Given the description of an element on the screen output the (x, y) to click on. 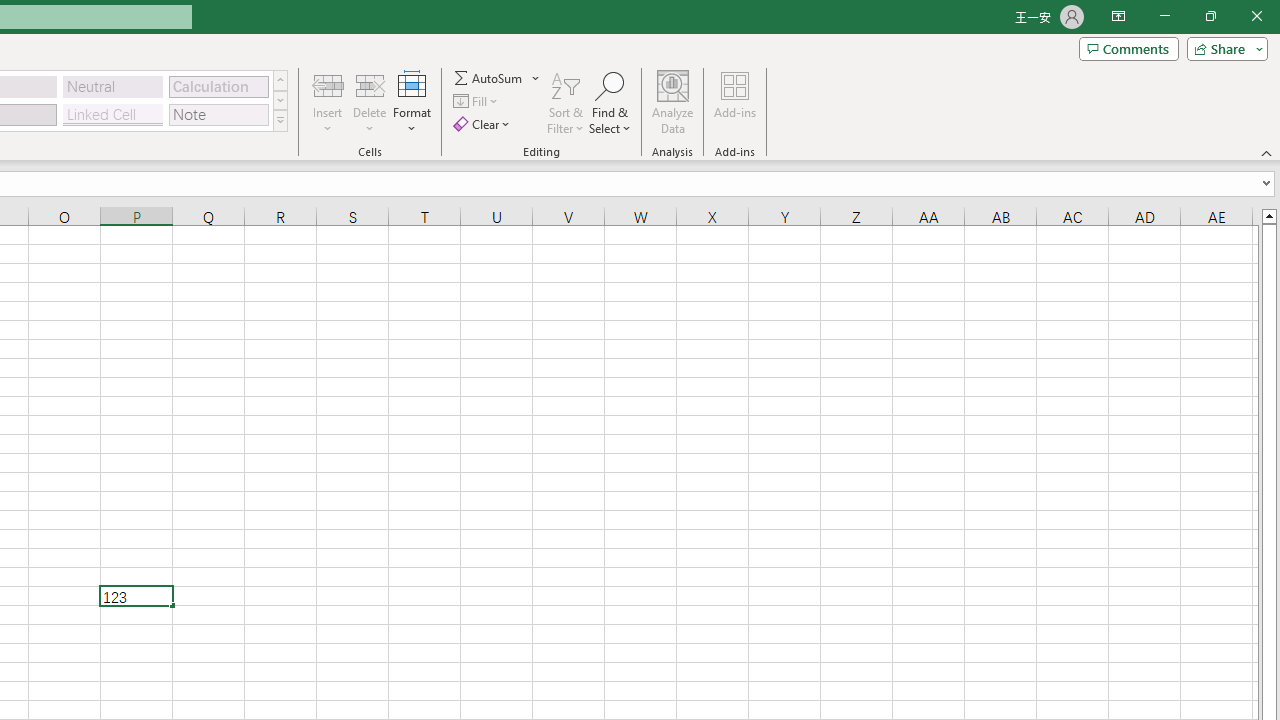
Clear (483, 124)
Format (411, 102)
Row up (280, 79)
Insert (328, 102)
Insert Cells (328, 84)
Find & Select (610, 102)
Restore Down (1210, 16)
Row Down (280, 100)
Neutral (113, 86)
Delete (369, 102)
Close (1256, 16)
Cell Styles (280, 120)
Edit Cell (136, 596)
